Given the description of an element on the screen output the (x, y) to click on. 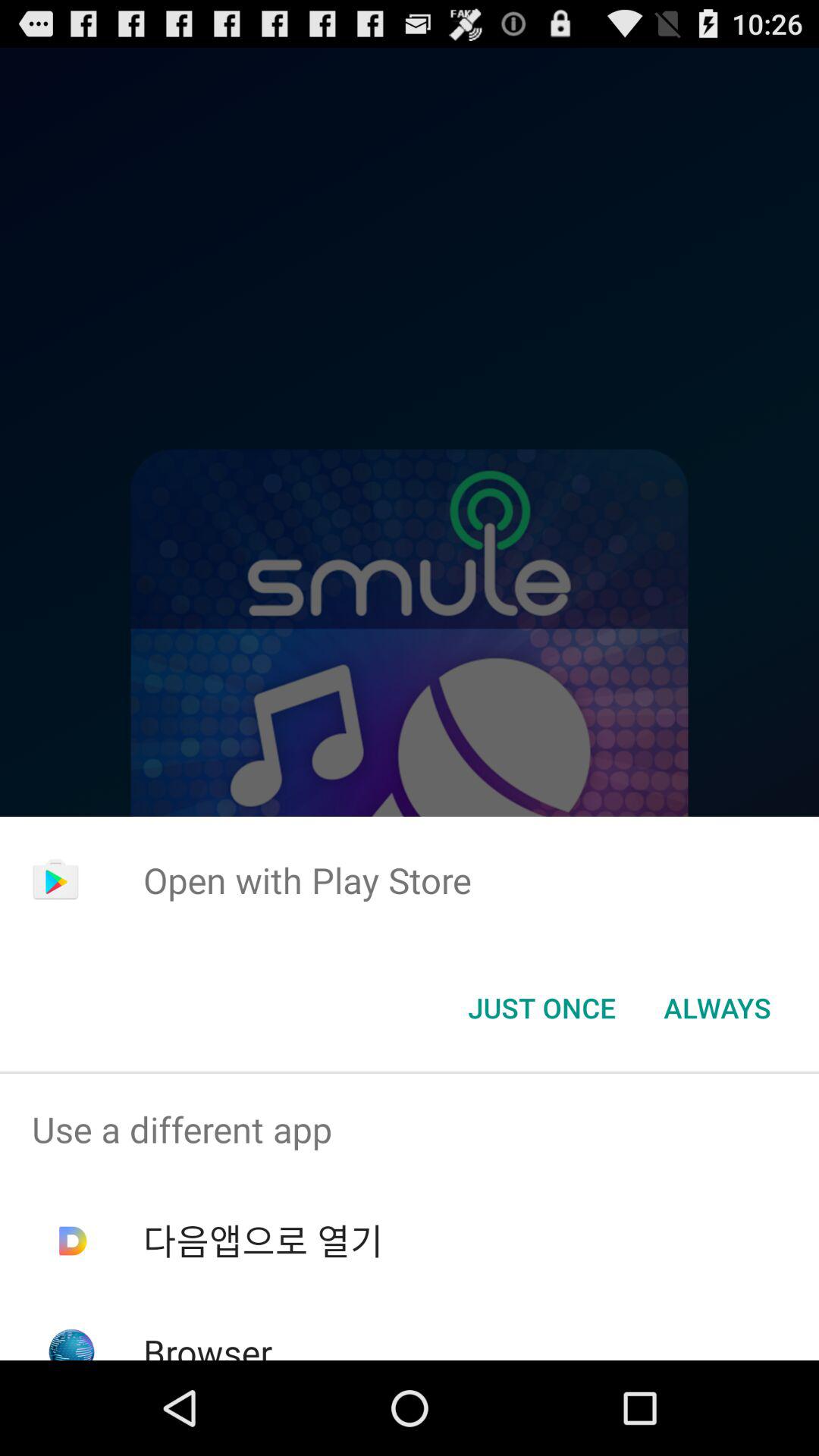
select icon at the bottom right corner (717, 1007)
